Given the description of an element on the screen output the (x, y) to click on. 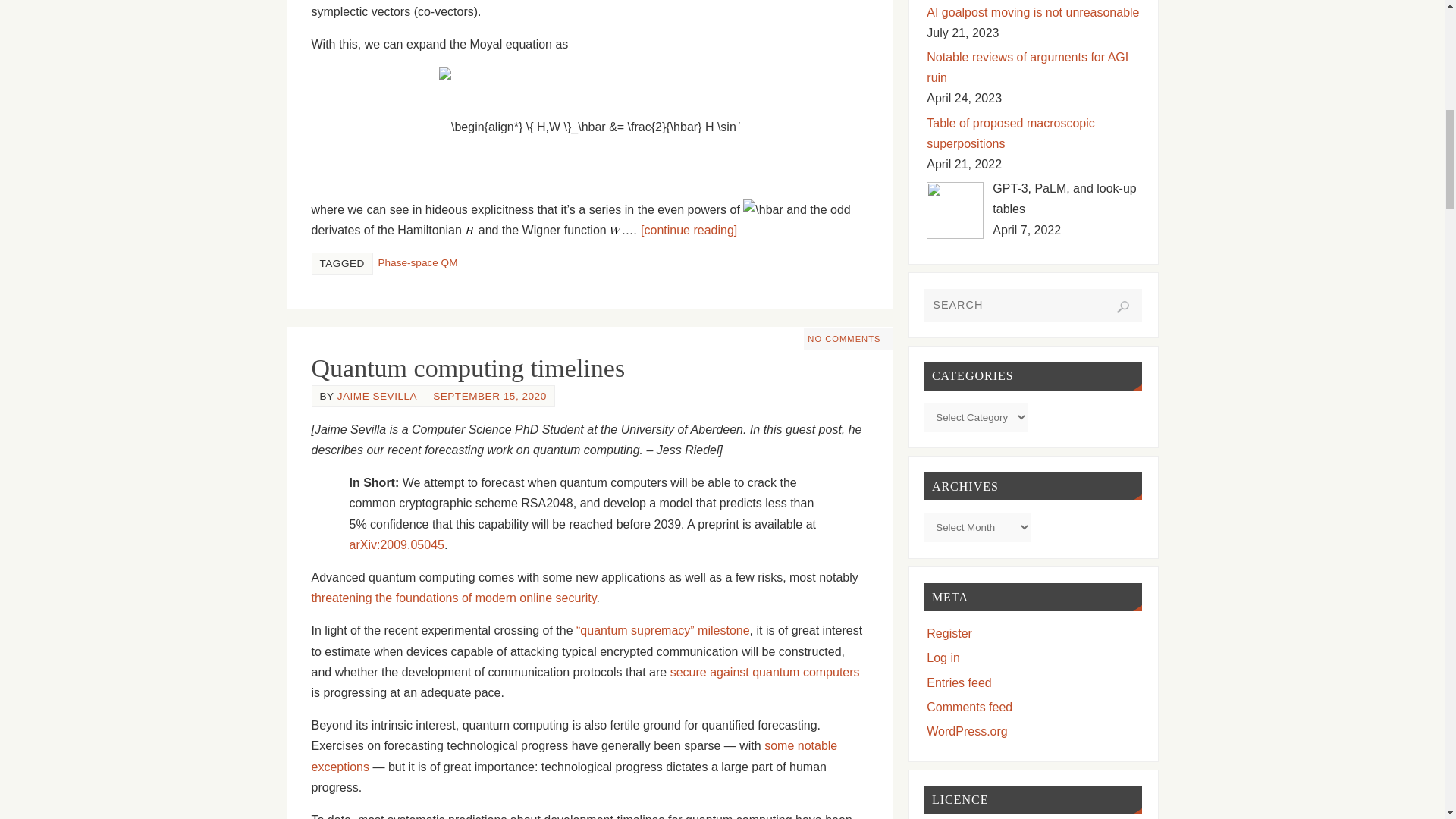
JAIME SEVILLA (376, 396)
threatening the foundations of modern online security (453, 597)
NO COMMENTS (844, 338)
secure against quantum computers (764, 671)
exceptions (340, 766)
Phase-space QM (417, 262)
arXiv:2009.05045 (396, 544)
some (780, 745)
SEPTEMBER 15, 2020 (489, 396)
notable (817, 745)
Quantum computing timelines (467, 367)
